Given the description of an element on the screen output the (x, y) to click on. 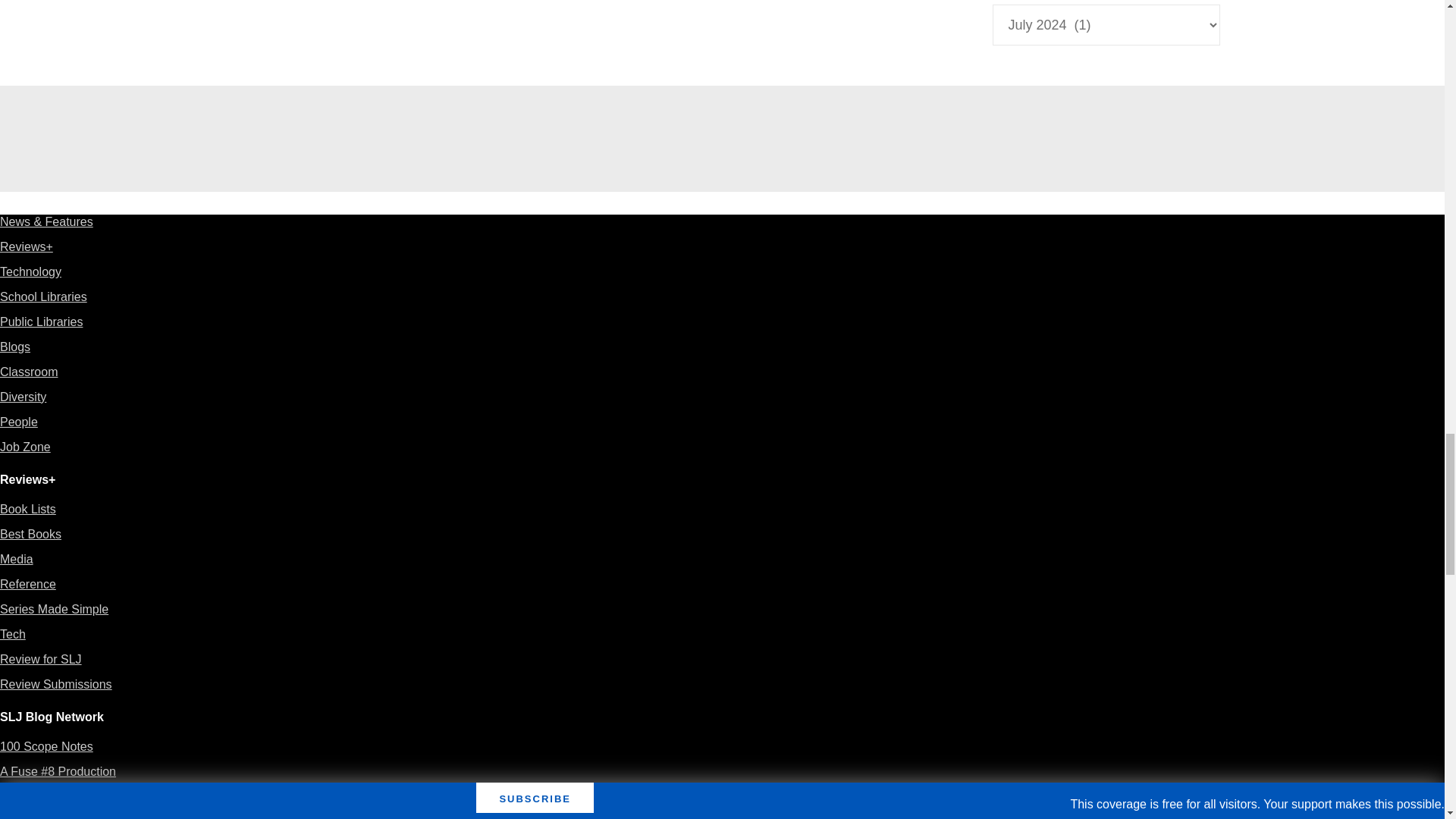
3rd party ad content (721, 138)
